Given the description of an element on the screen output the (x, y) to click on. 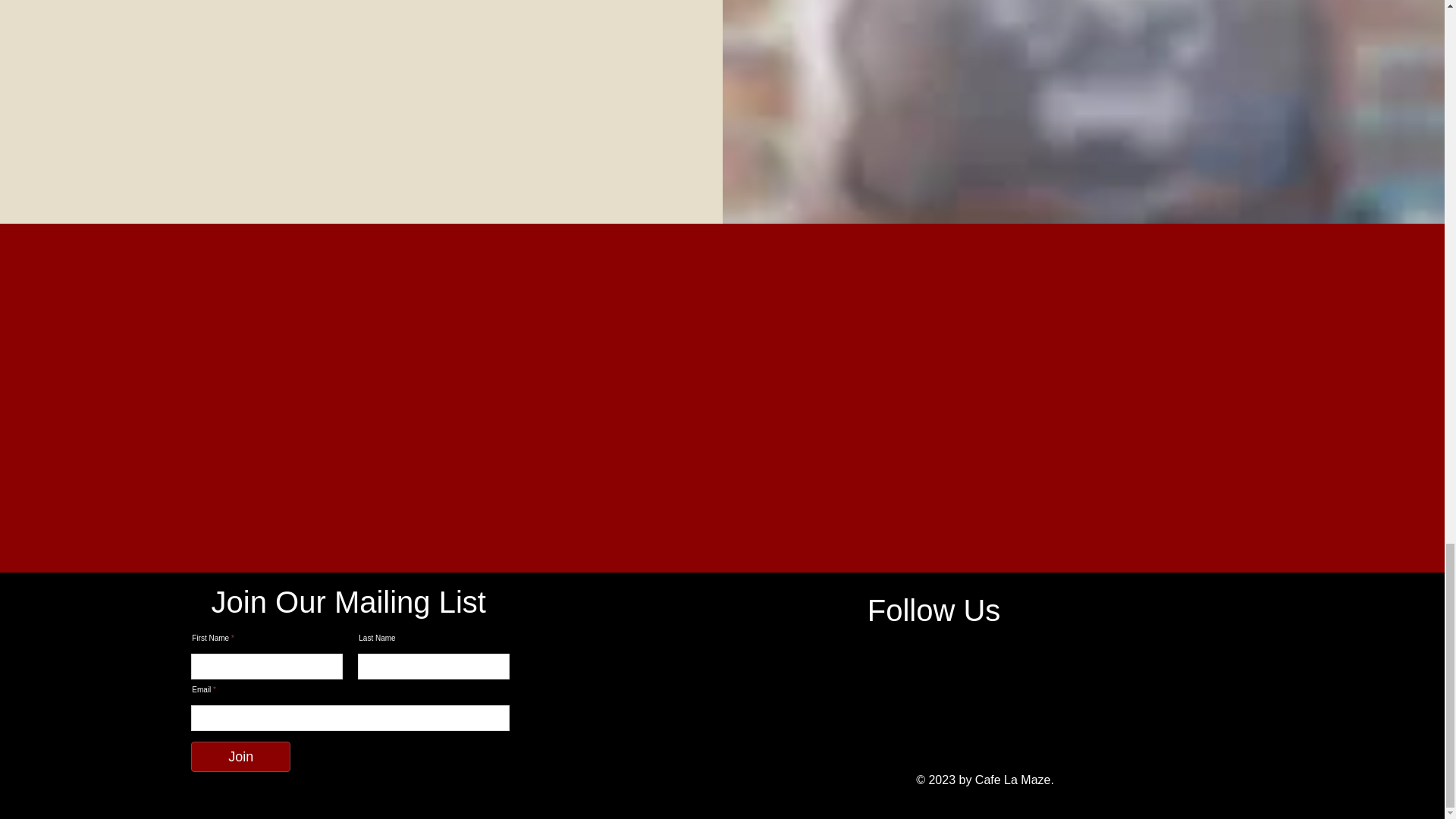
Join (239, 757)
